Given the description of an element on the screen output the (x, y) to click on. 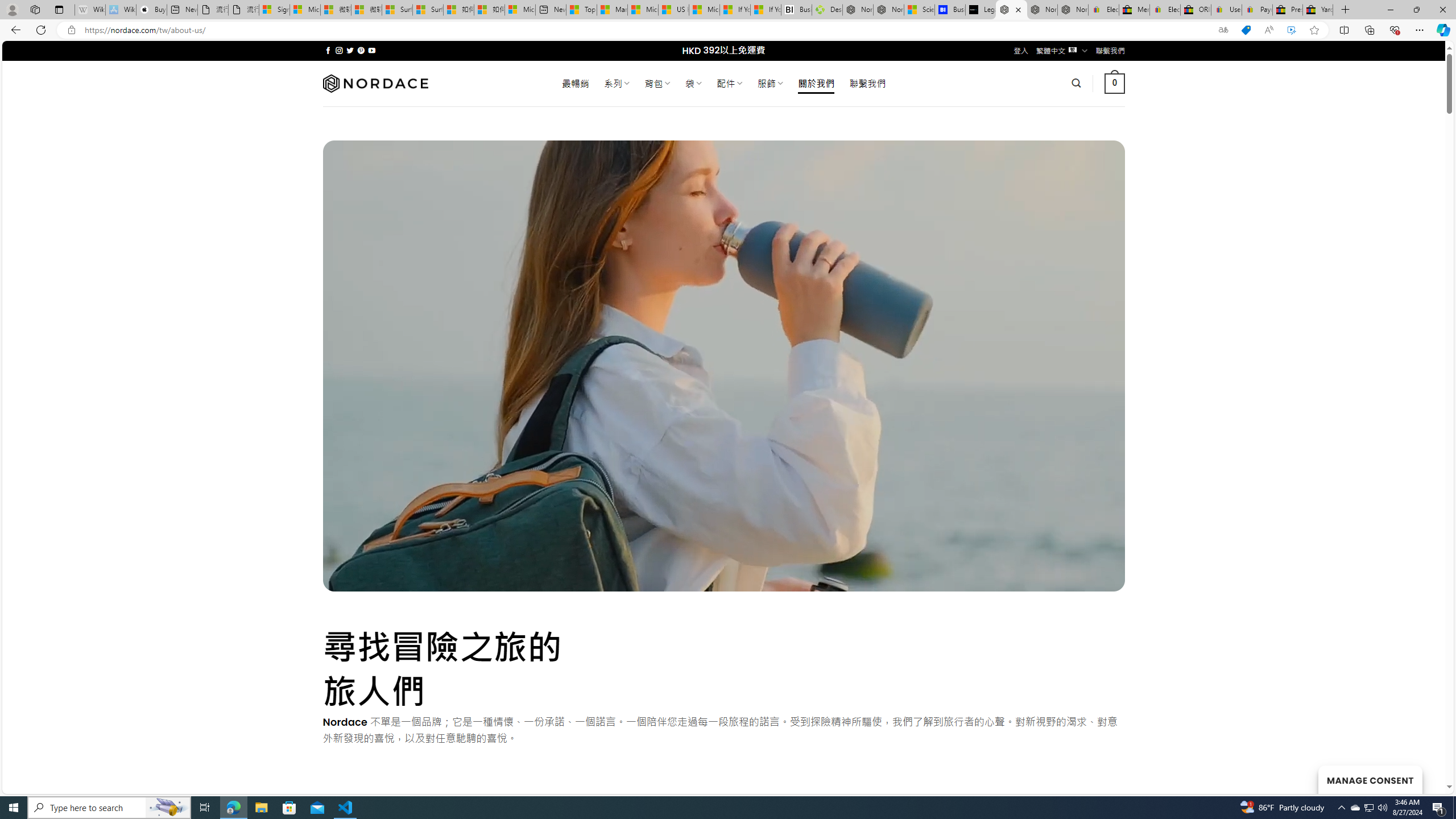
Enhance video (1291, 29)
